Given the description of an element on the screen output the (x, y) to click on. 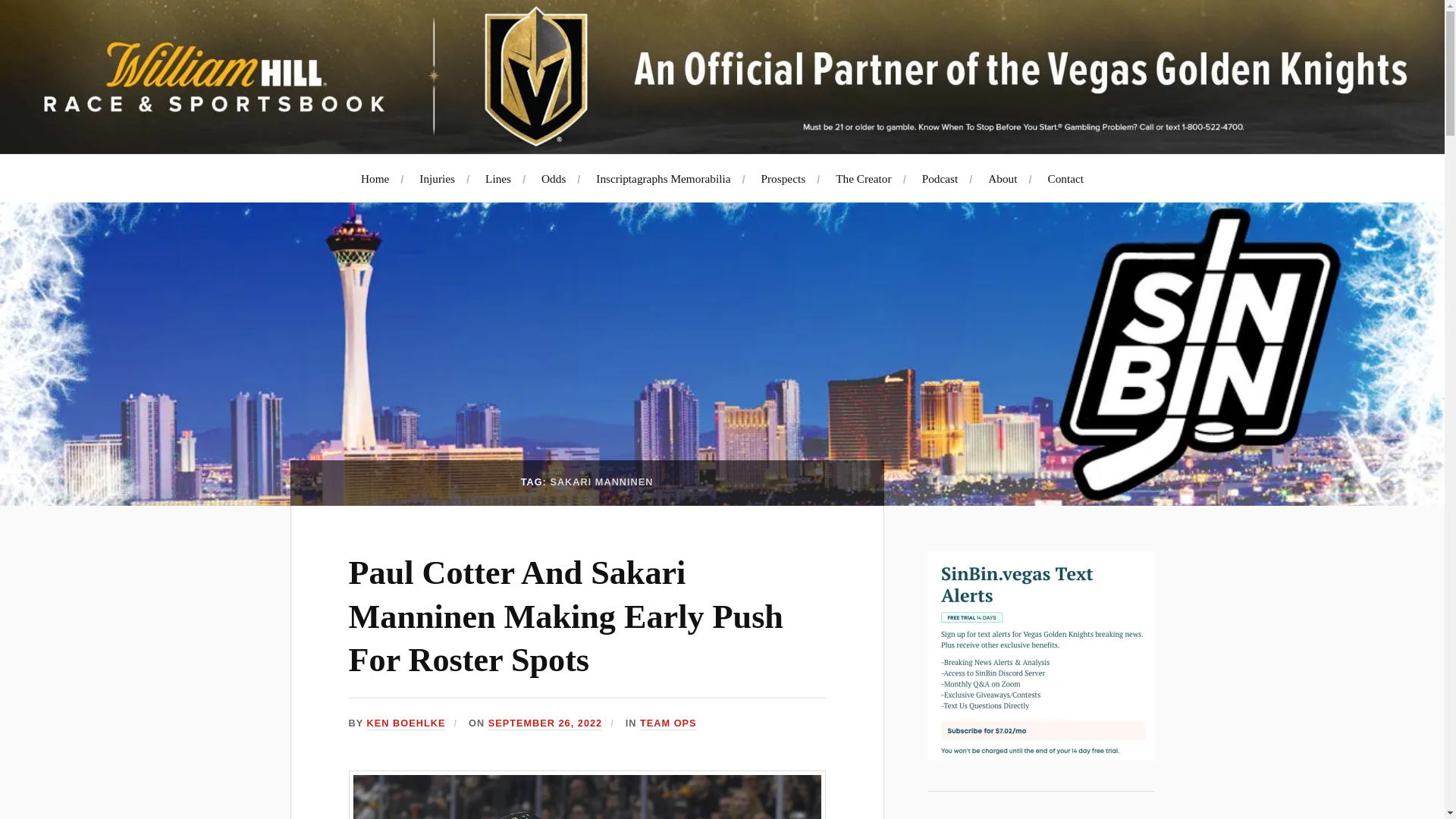
Posts by Ken Boehlke (405, 723)
Prospects (783, 178)
KEN BOEHLKE (405, 723)
Inscriptagraphs Memorabilia (662, 178)
TEAM OPS (668, 723)
The Creator (863, 178)
SEPTEMBER 26, 2022 (544, 723)
